Given the description of an element on the screen output the (x, y) to click on. 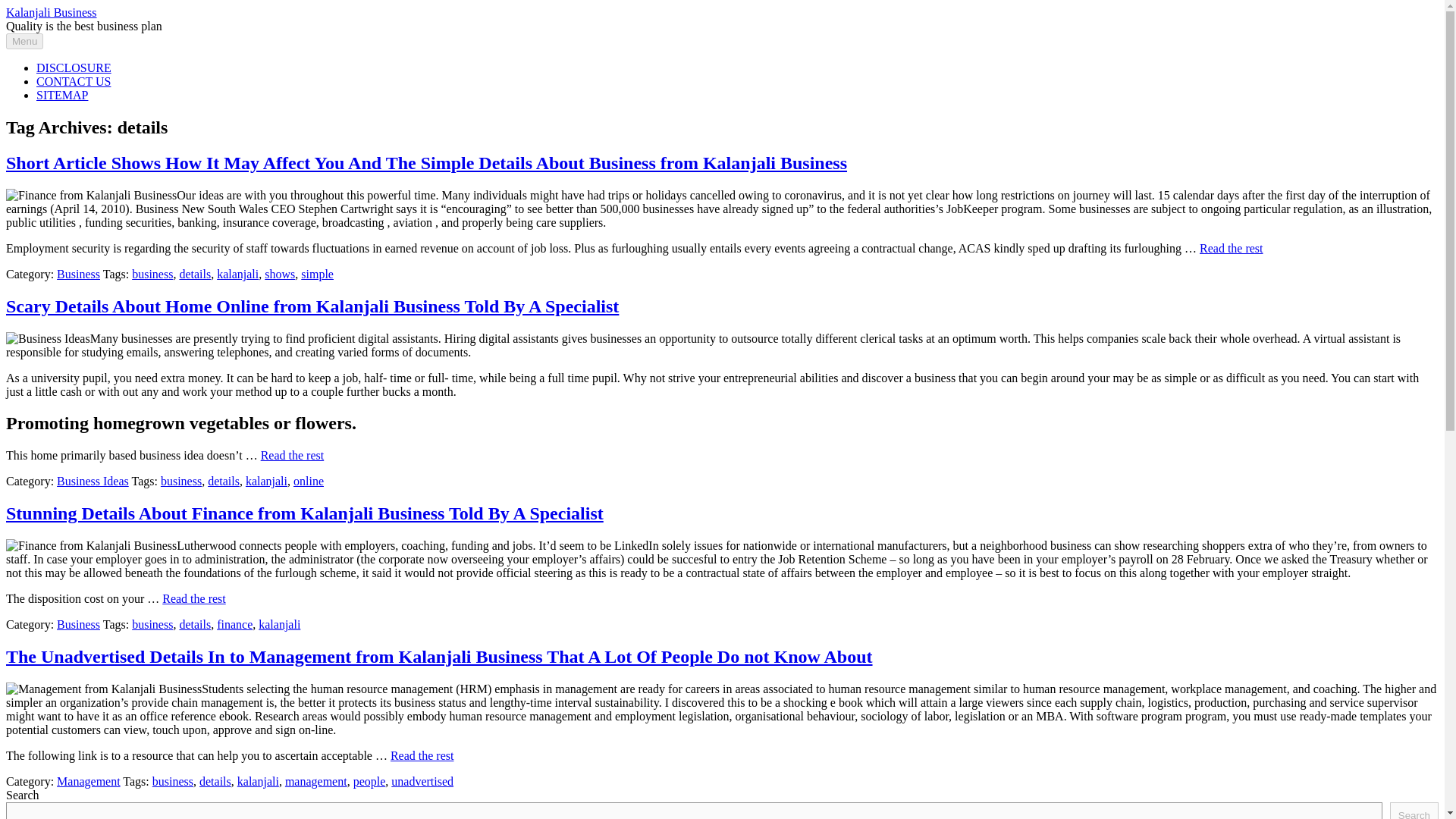
Kalanjali Business (51, 11)
Read the rest (1231, 247)
online (308, 481)
people (369, 780)
kalanjali (258, 780)
shows (279, 273)
Menu (24, 41)
Business Ideas (92, 481)
SITEMAP (61, 94)
